Given the description of an element on the screen output the (x, y) to click on. 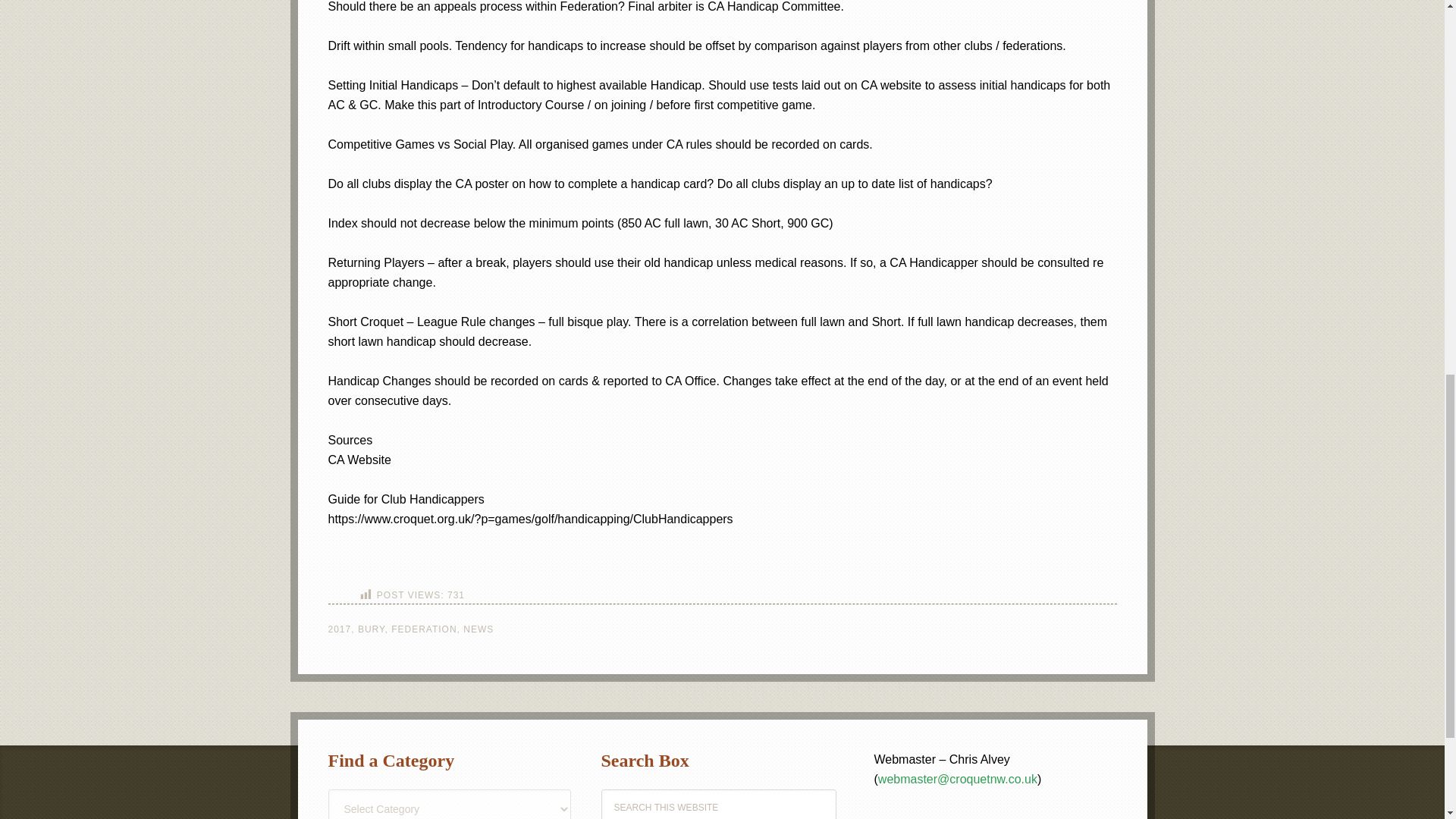
2017 (338, 629)
FEDERATION (424, 629)
BURY (371, 629)
NEWS (478, 629)
